Given the description of an element on the screen output the (x, y) to click on. 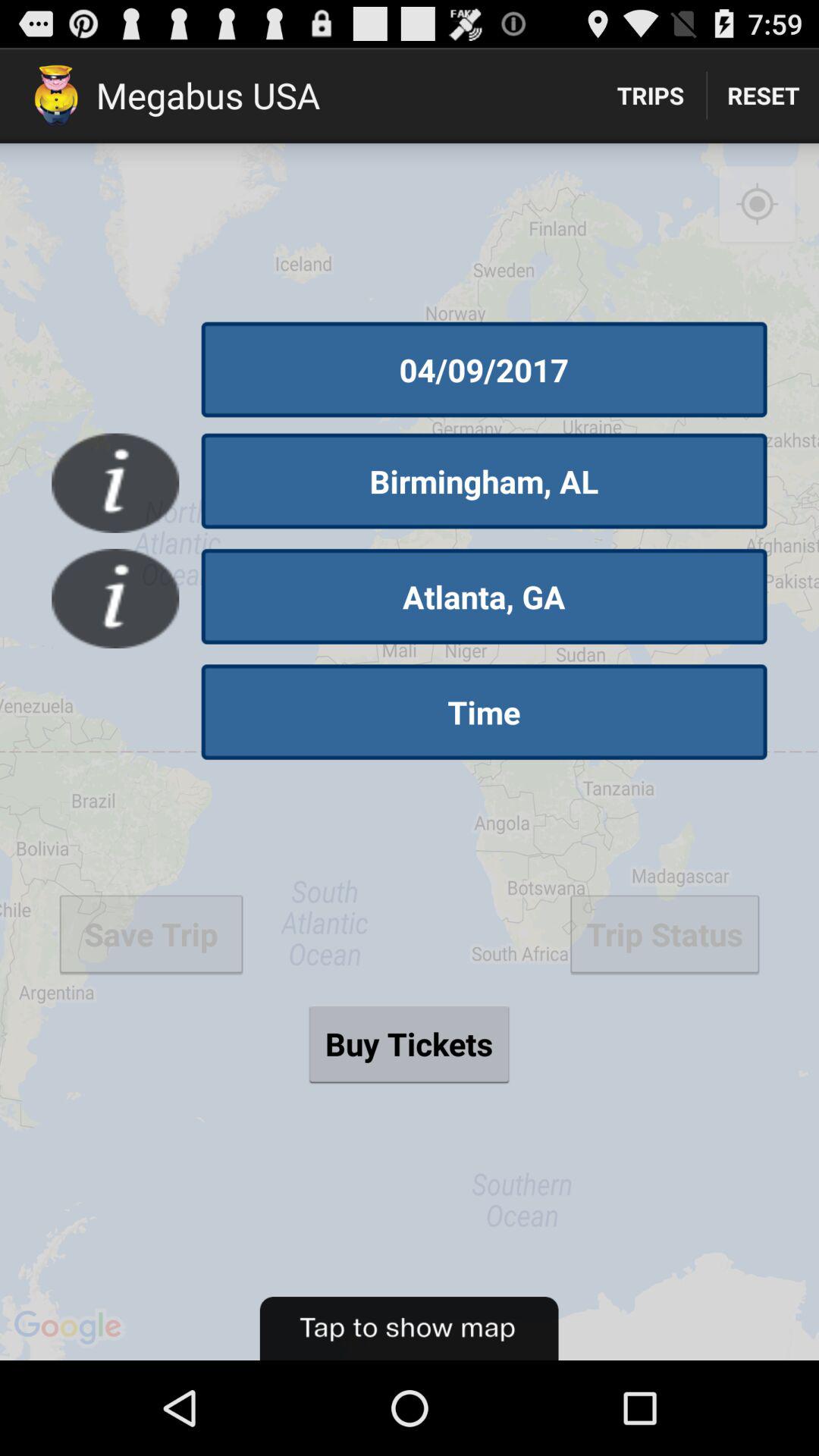
choose the item below time button (408, 1043)
